Given the description of an element on the screen output the (x, y) to click on. 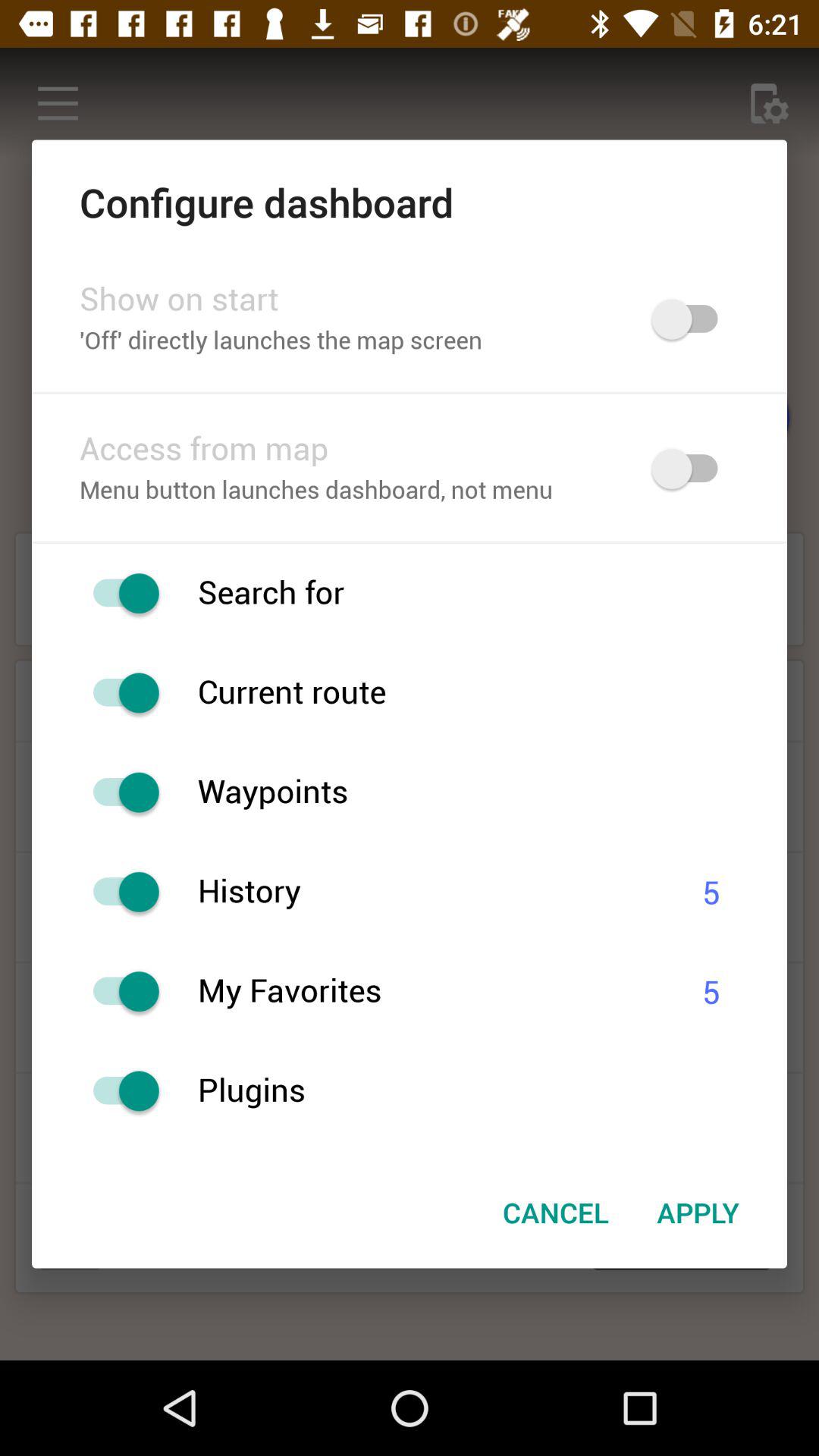
toggle map screen (691, 319)
